Given the description of an element on the screen output the (x, y) to click on. 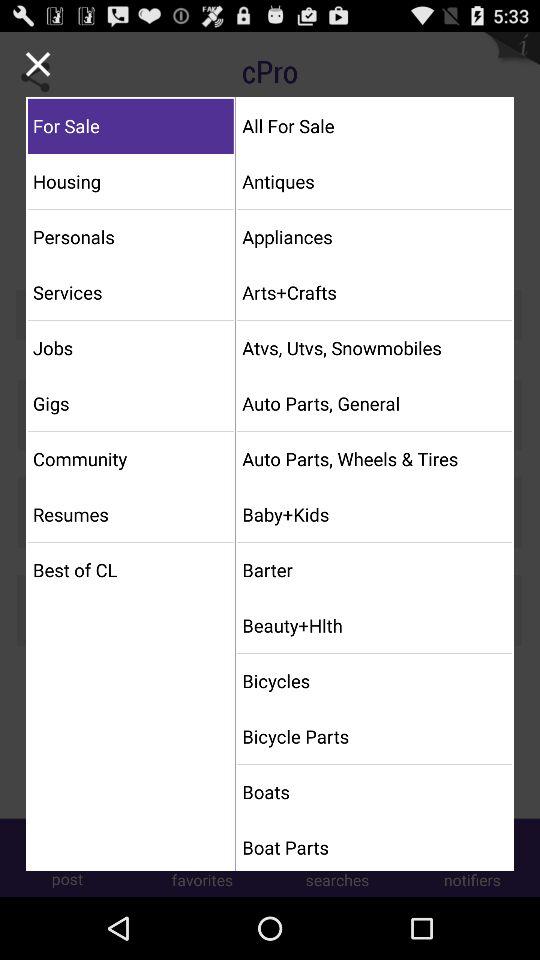
choose the item below beauty+hlth icon (374, 680)
